Given the description of an element on the screen output the (x, y) to click on. 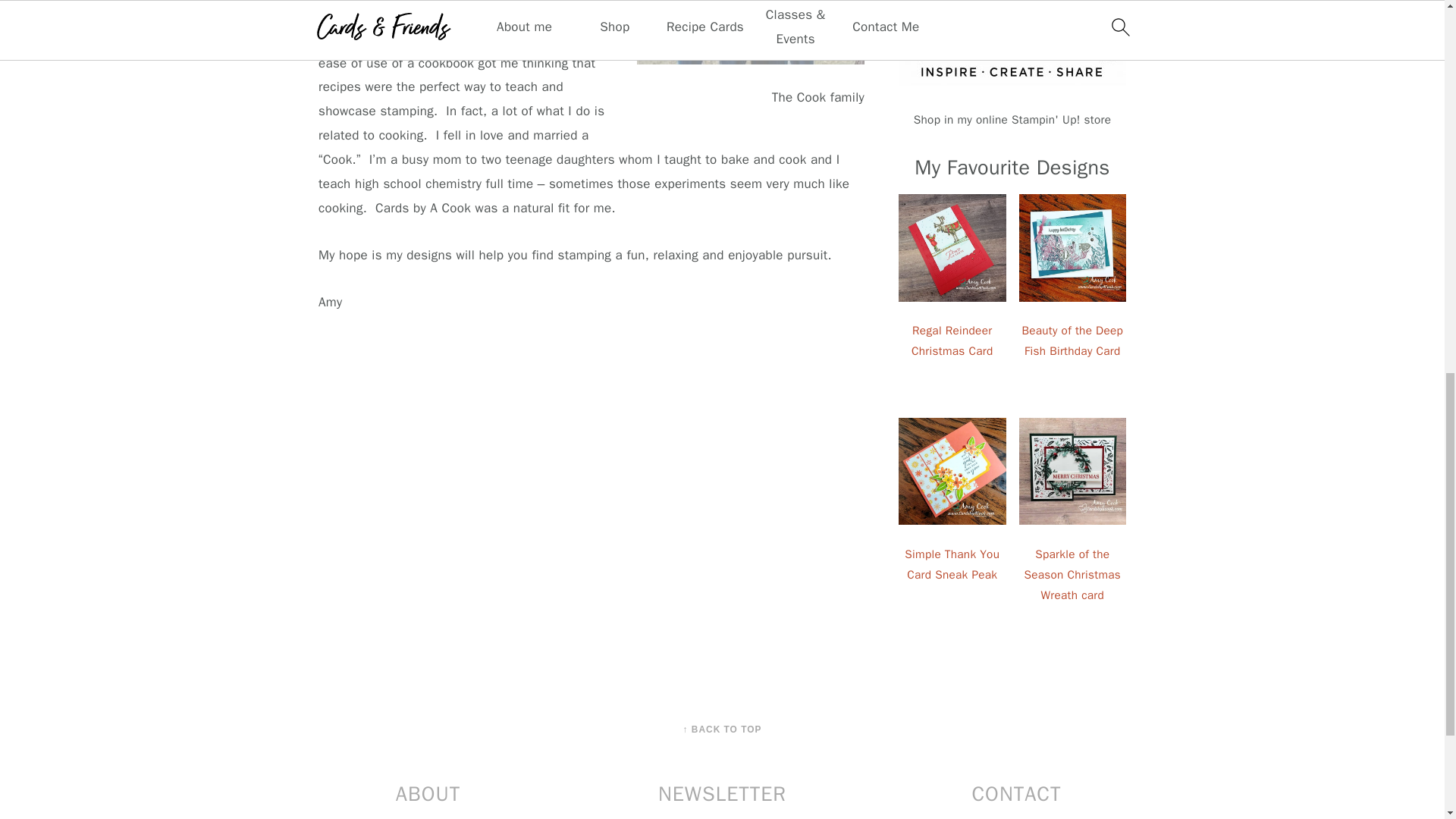
THIS CARD IDEA (750, 42)
